Given the description of an element on the screen output the (x, y) to click on. 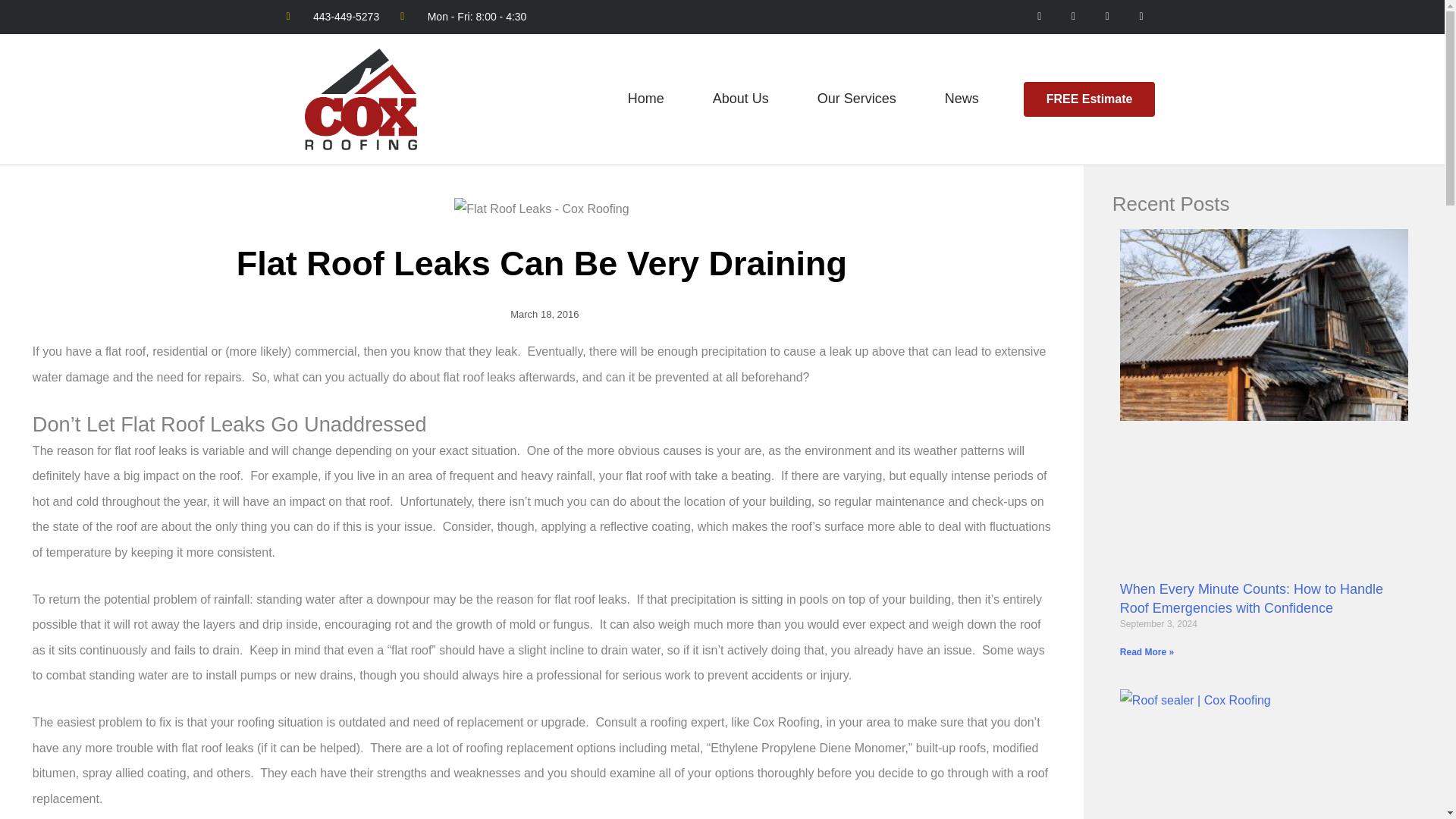
About Us (740, 98)
FREE Estimate (1089, 99)
News (962, 98)
Linkedin-in (1141, 17)
Home (646, 98)
Our Services (856, 98)
Twitter (1107, 17)
Instagram (1073, 17)
